Given the description of an element on the screen output the (x, y) to click on. 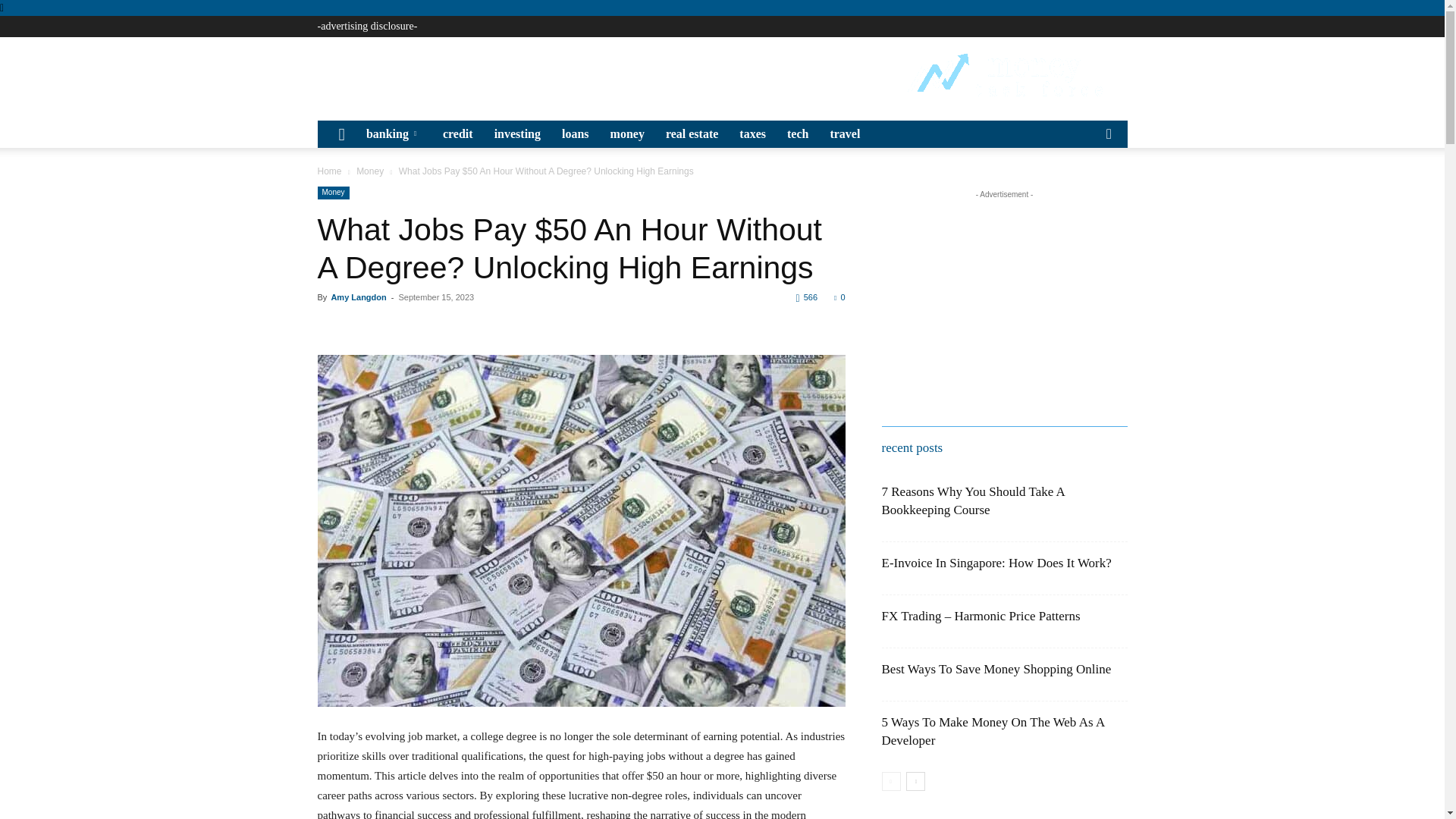
Home (328, 171)
taxes (752, 134)
topFacebookLike (430, 324)
investing (517, 134)
Money (370, 171)
Money (333, 192)
real estate (692, 134)
money (627, 134)
Amy Langdon (357, 297)
banking (393, 134)
loans (575, 134)
tech (797, 134)
travel (844, 134)
View all posts in Money (370, 171)
Advertisement (593, 74)
